Given the description of an element on the screen output the (x, y) to click on. 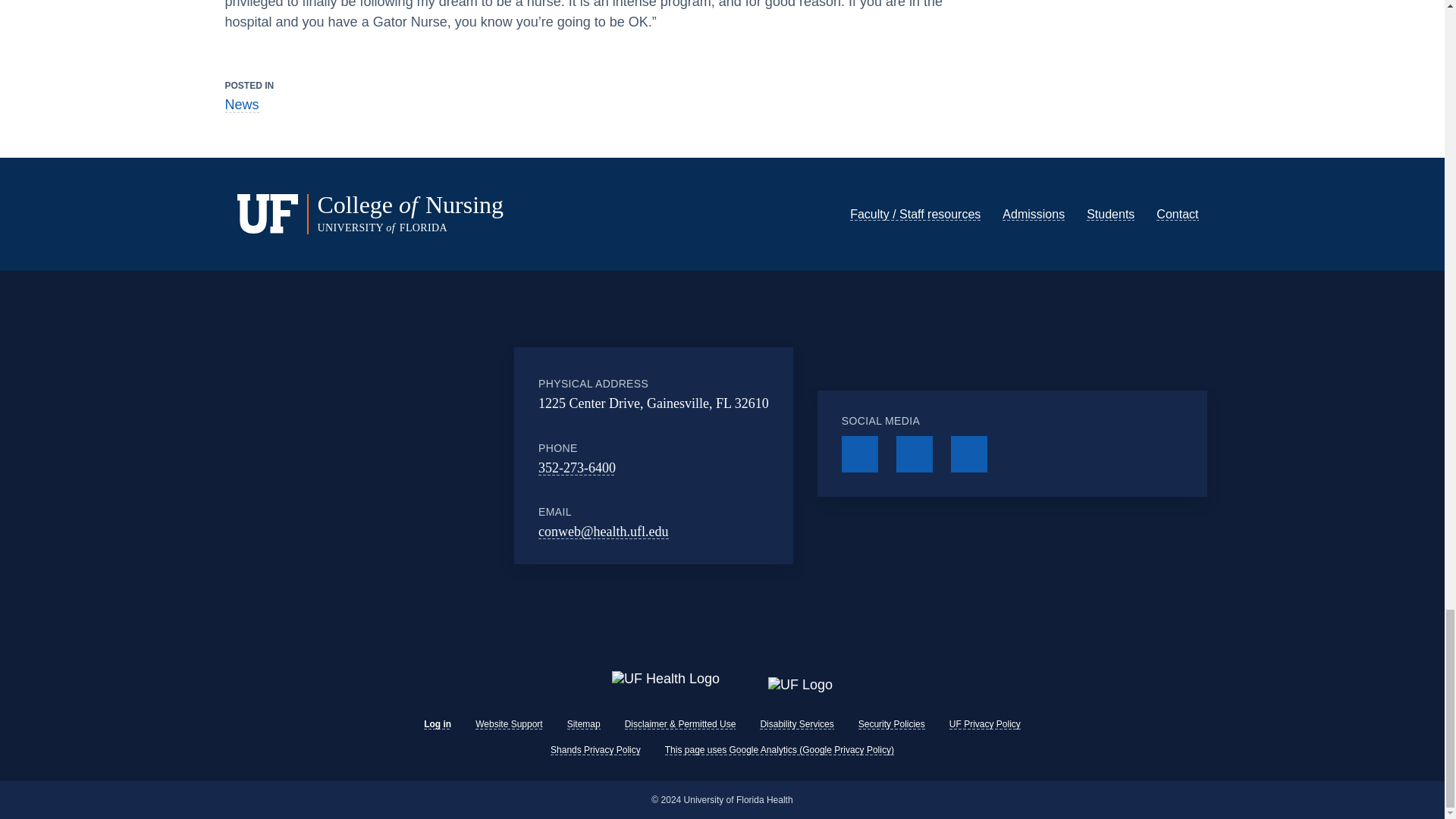
352-273-6400 (576, 443)
Contact (1177, 189)
Admissions (1033, 189)
Sitemap (583, 724)
Security Policies (891, 724)
Disability Services (796, 724)
Website Support (509, 724)
Google Maps Embed (423, 431)
Log in (437, 724)
Students (1110, 189)
